Given the description of an element on the screen output the (x, y) to click on. 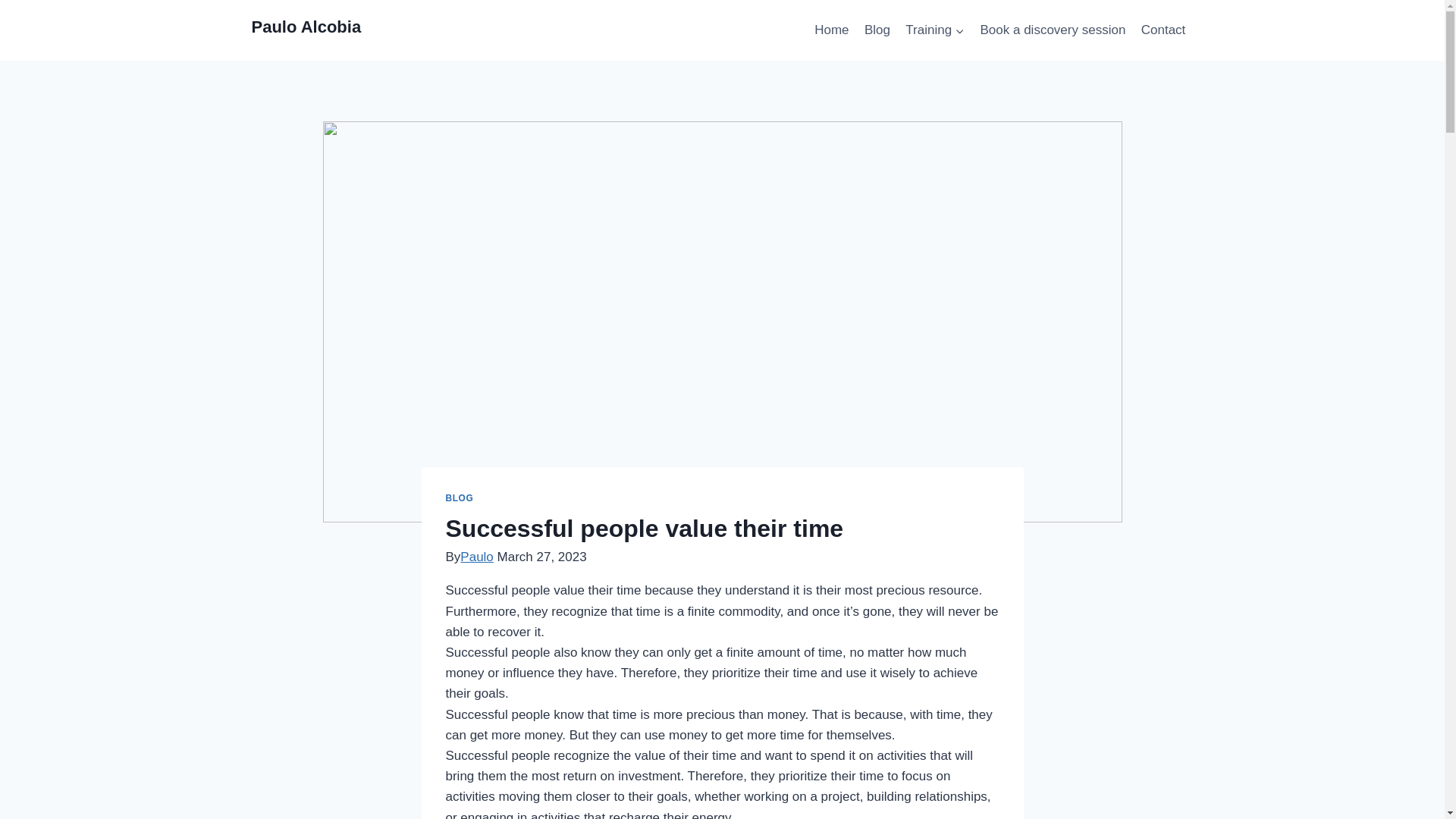
Paulo (476, 556)
Training (935, 30)
Blog (877, 30)
Paulo Alcobia (306, 29)
Book a discovery session (1052, 30)
Home (831, 30)
Contact (1163, 30)
BLOG (459, 498)
